Given the description of an element on the screen output the (x, y) to click on. 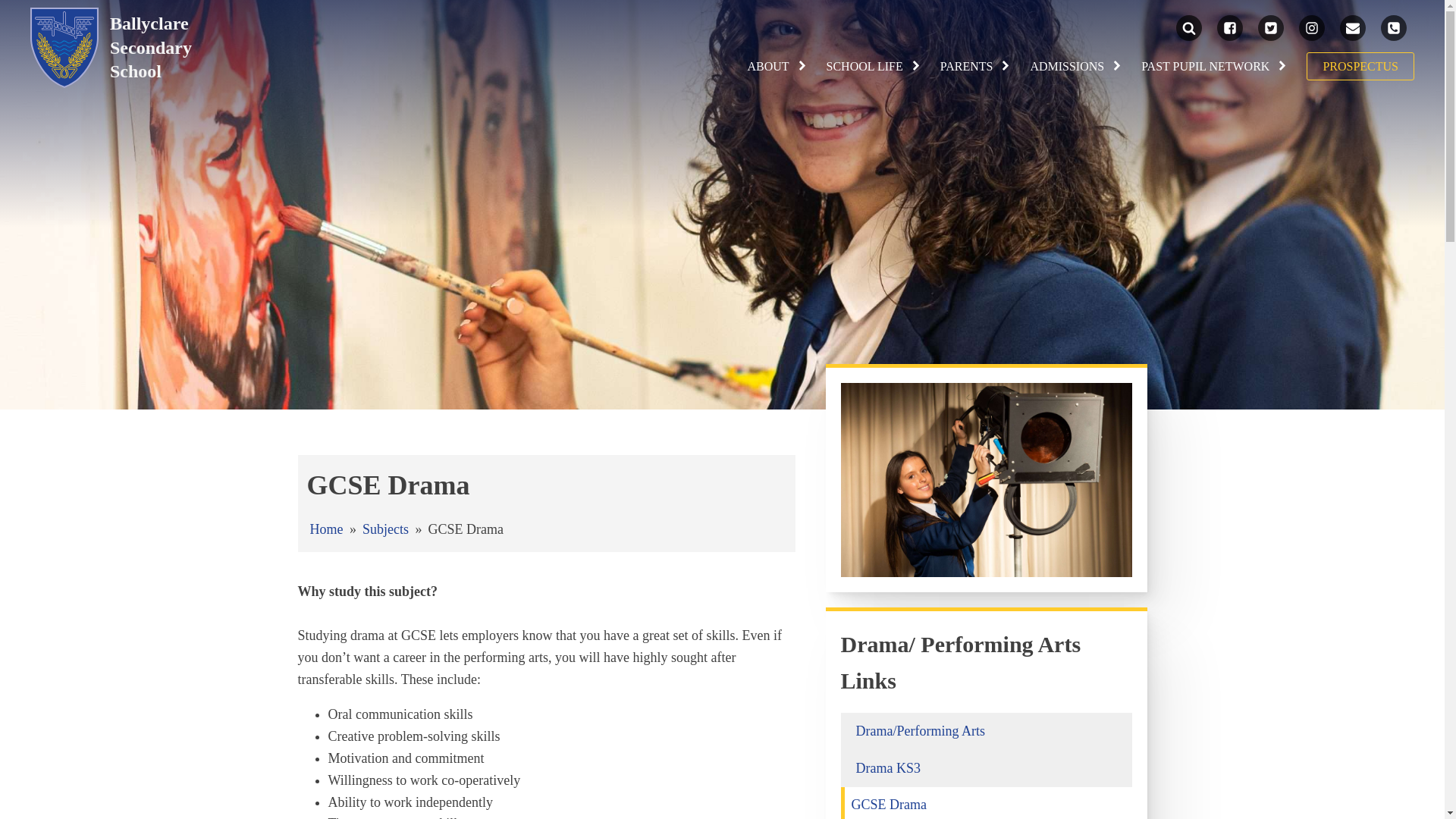
ABOUT (776, 66)
Breadcrumb link to Subjects (385, 529)
Search (27, 10)
SCHOOL LIFE (874, 66)
PARENTS (975, 66)
Breadcrumb link to Home (325, 529)
